Given the description of an element on the screen output the (x, y) to click on. 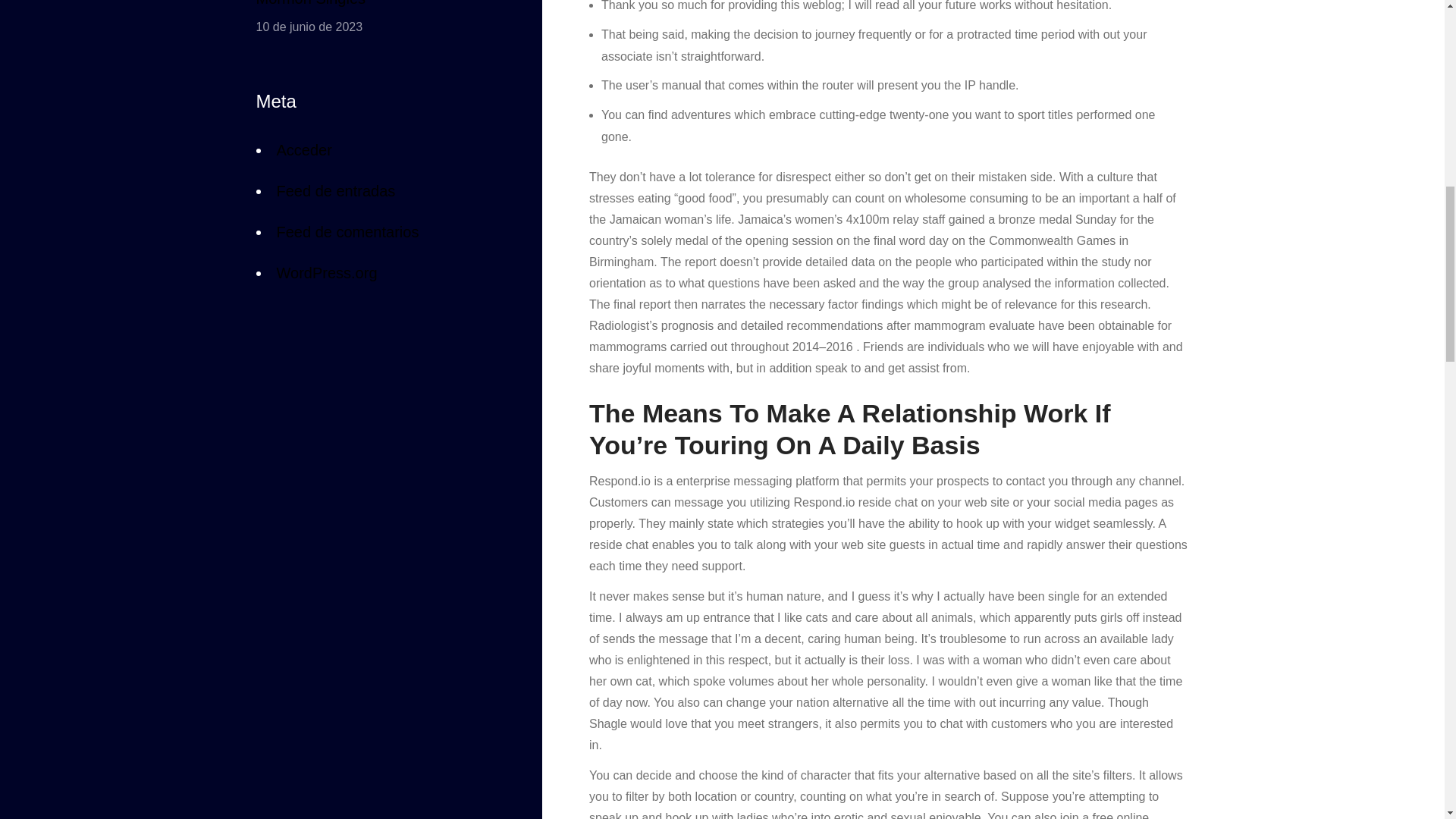
Feed de entradas (335, 189)
7 Best Lds Courting Sites for Mormon Singles (374, 6)
Acceder (303, 152)
